Given the description of an element on the screen output the (x, y) to click on. 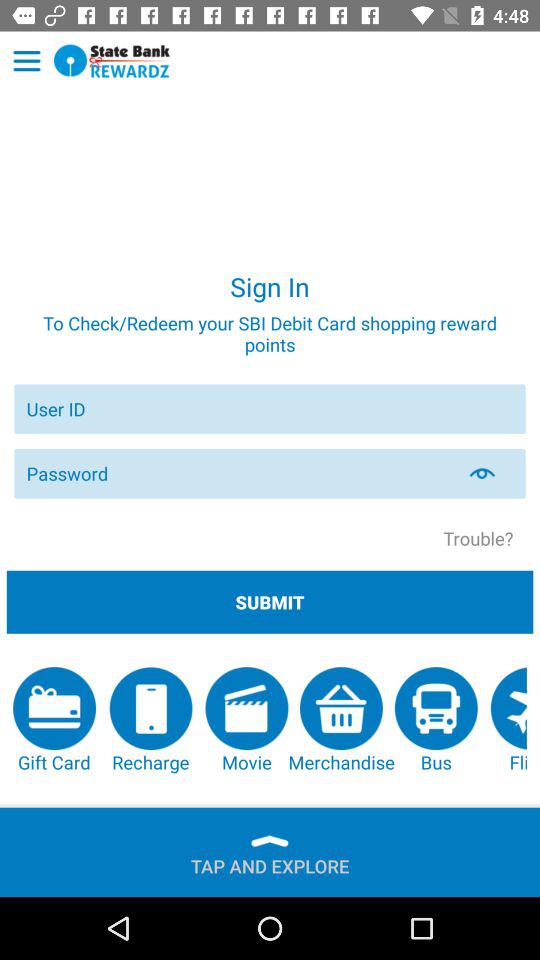
swipe until flight item (508, 720)
